Given the description of an element on the screen output the (x, y) to click on. 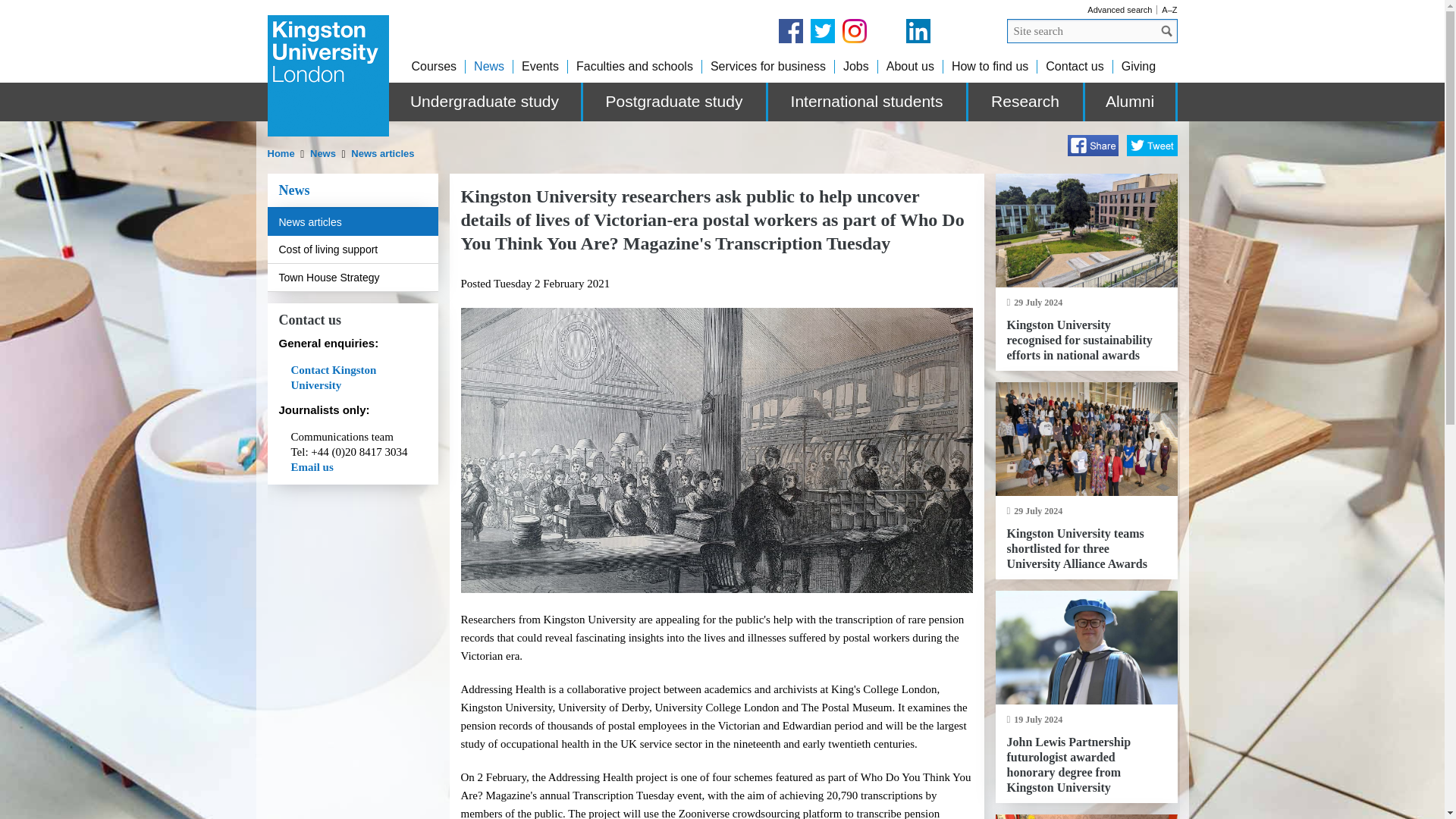
Home (281, 153)
Research (1026, 101)
Facebook (789, 30)
Faculties and schools (634, 65)
News articles (381, 153)
Search (1166, 30)
Events at Kingston University London (540, 65)
Facebook (1092, 145)
Kingston University London (327, 75)
Alumni (1130, 101)
Advanced search (1119, 9)
Services for business (767, 65)
Information on courses at Kingston University London (433, 65)
